Given the description of an element on the screen output the (x, y) to click on. 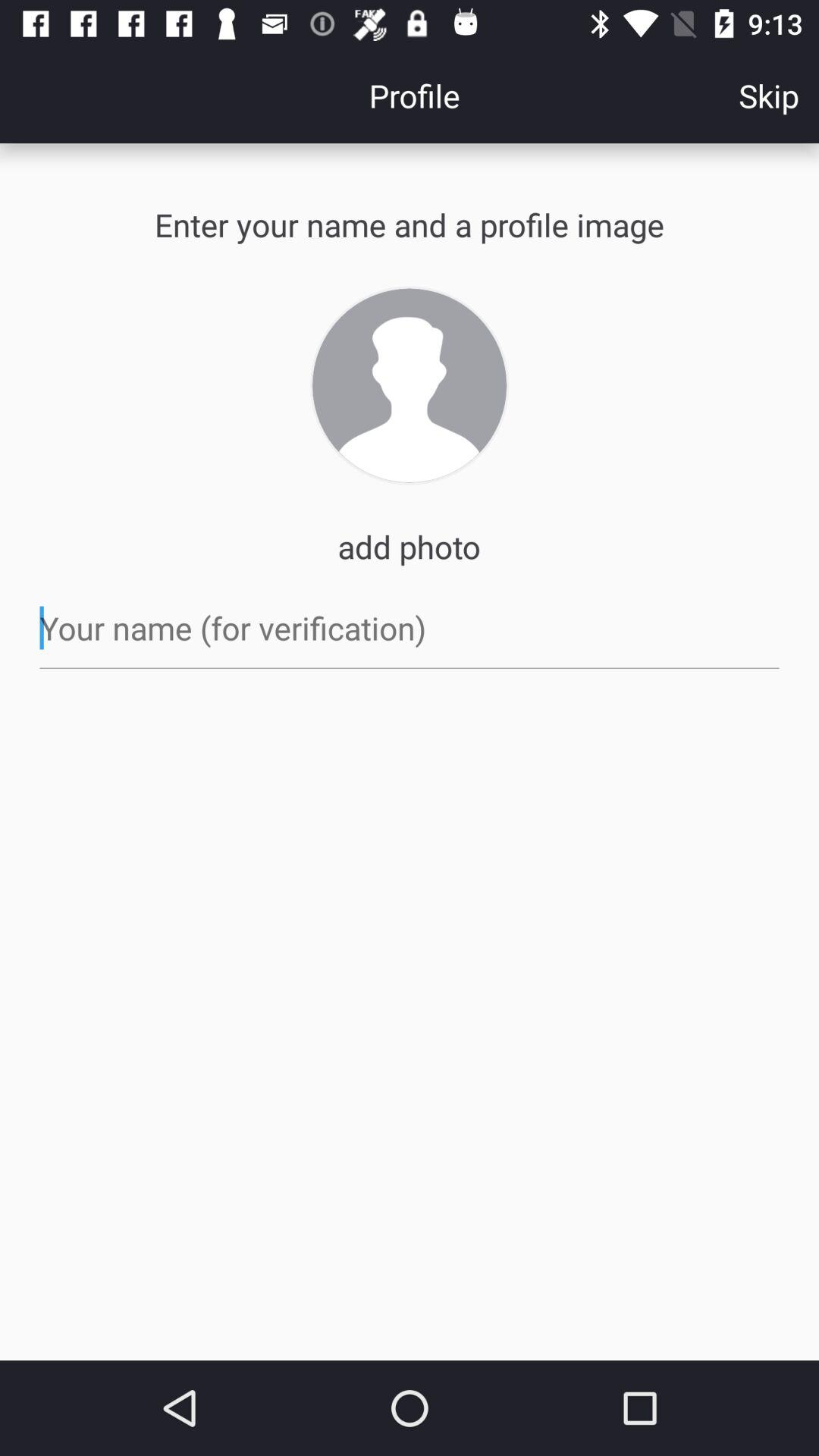
write your name for verification (409, 627)
